Given the description of an element on the screen output the (x, y) to click on. 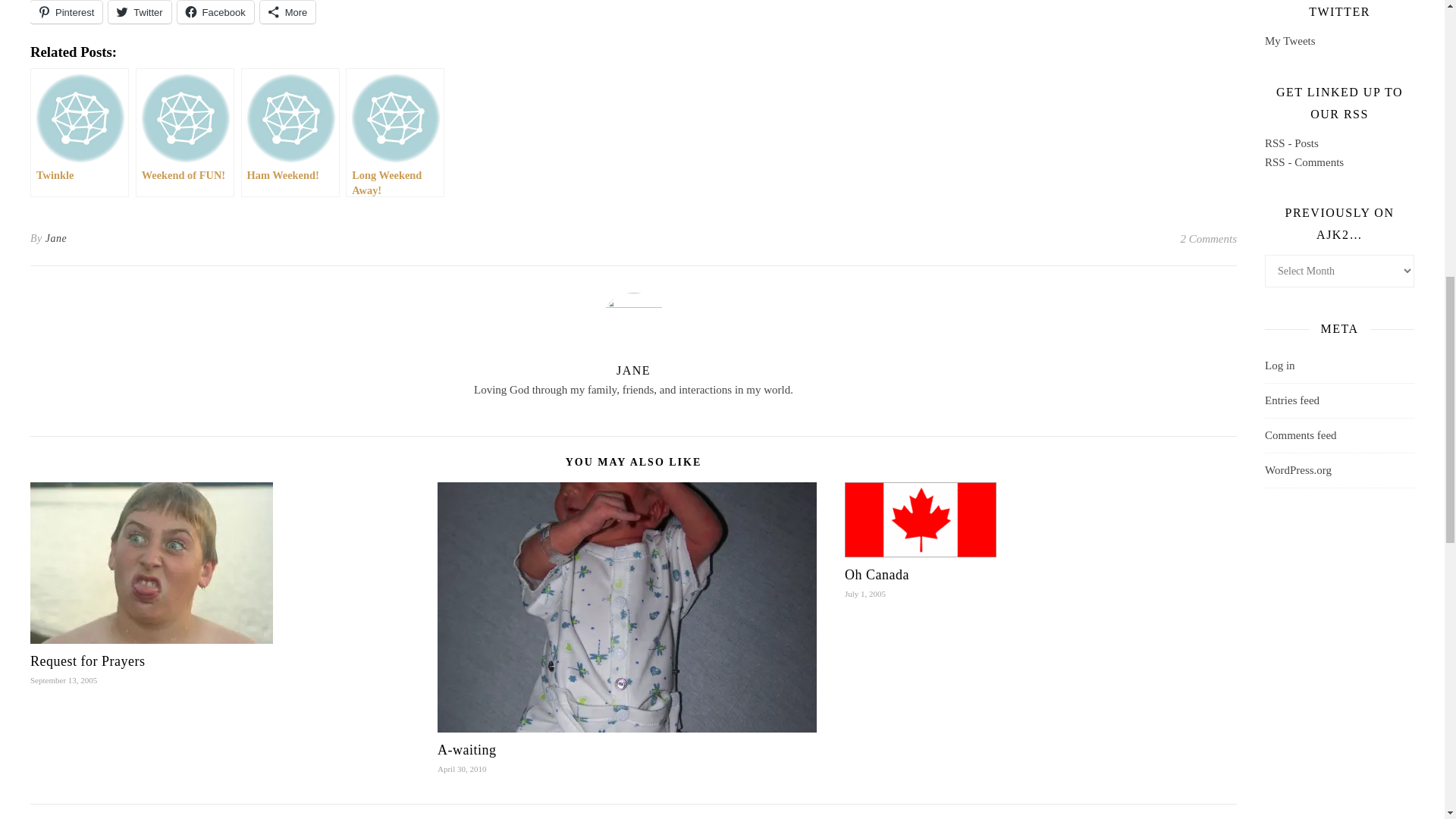
Click to share on Facebook (215, 11)
A-waiting (467, 749)
Click to share on Pinterest (65, 11)
Facebook (215, 11)
Posts by Jane (632, 369)
Click to share on Twitter (138, 11)
More (287, 11)
Twitter (138, 11)
Posts by Jane (55, 238)
2 Comments (1207, 238)
